Given the description of an element on the screen output the (x, y) to click on. 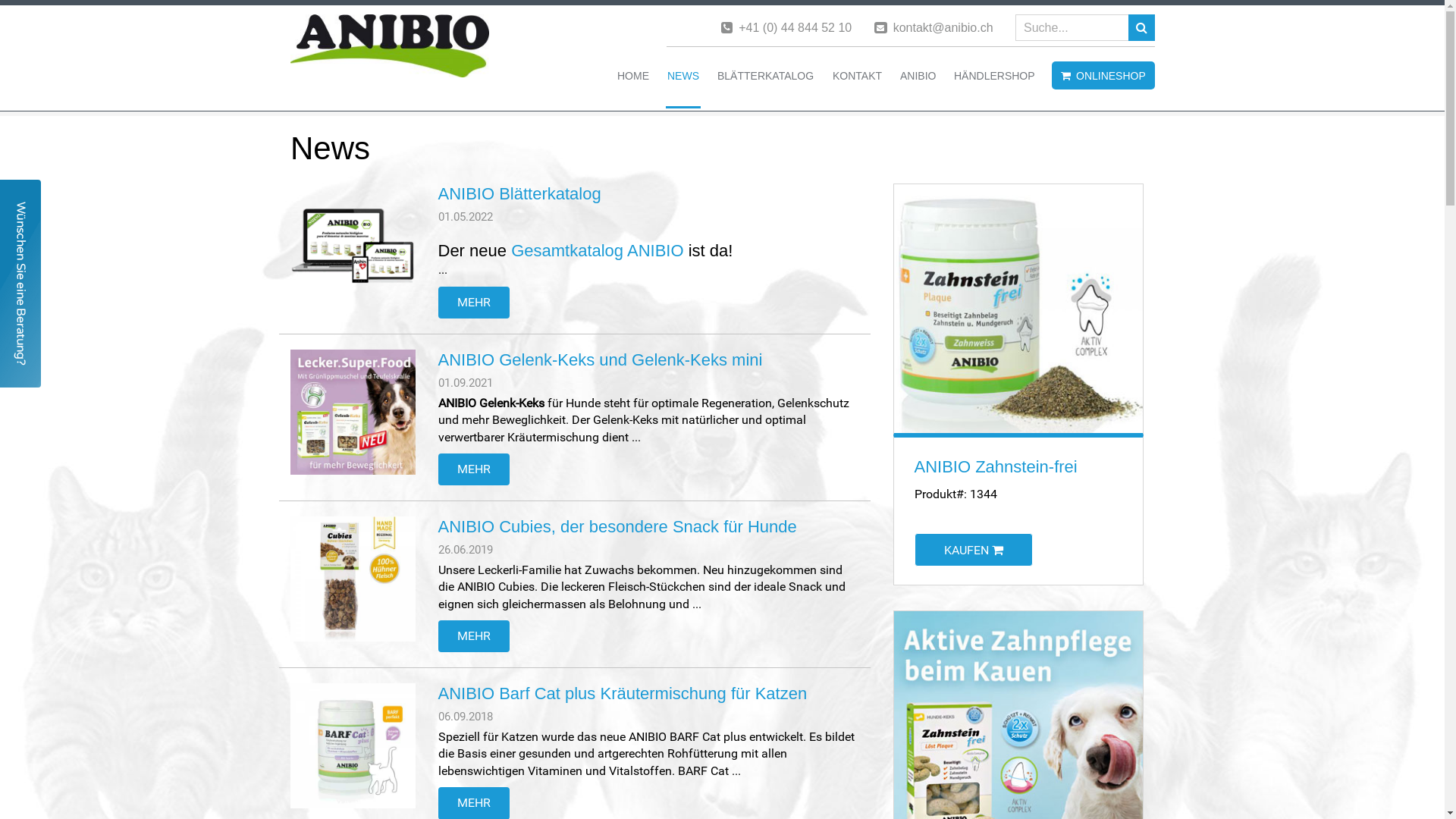
HOME Element type: text (632, 81)
MEHR Element type: text (473, 469)
Gesamtkatalog ANIBIO Element type: text (597, 250)
MEHR Element type: text (473, 302)
ANIBIO Gelenk-Keks und Gelenk-Keks mini Element type: text (600, 359)
kontakt@anibio.ch Element type: text (943, 27)
ANIBIO Element type: text (917, 81)
ONLINESHOP Element type: text (1102, 75)
NEWS Element type: text (682, 81)
MEHR Element type: text (473, 636)
ANIBIO Zahnstein-frei Element type: text (995, 466)
KAUFEN Element type: text (973, 549)
KONTAKT Element type: text (857, 81)
